Given the description of an element on the screen output the (x, y) to click on. 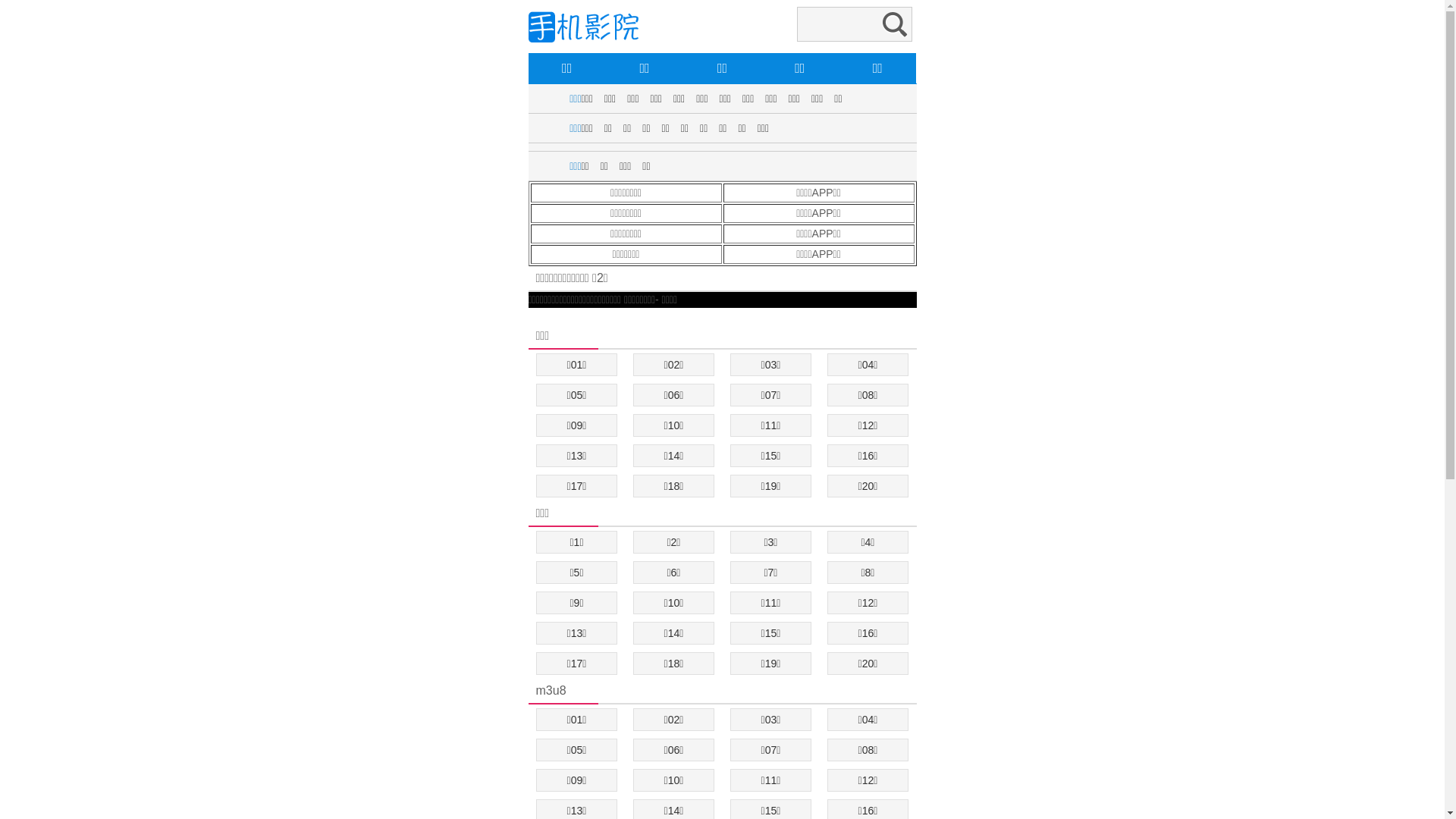
  Element type: text (528, 315)
